Given the description of an element on the screen output the (x, y) to click on. 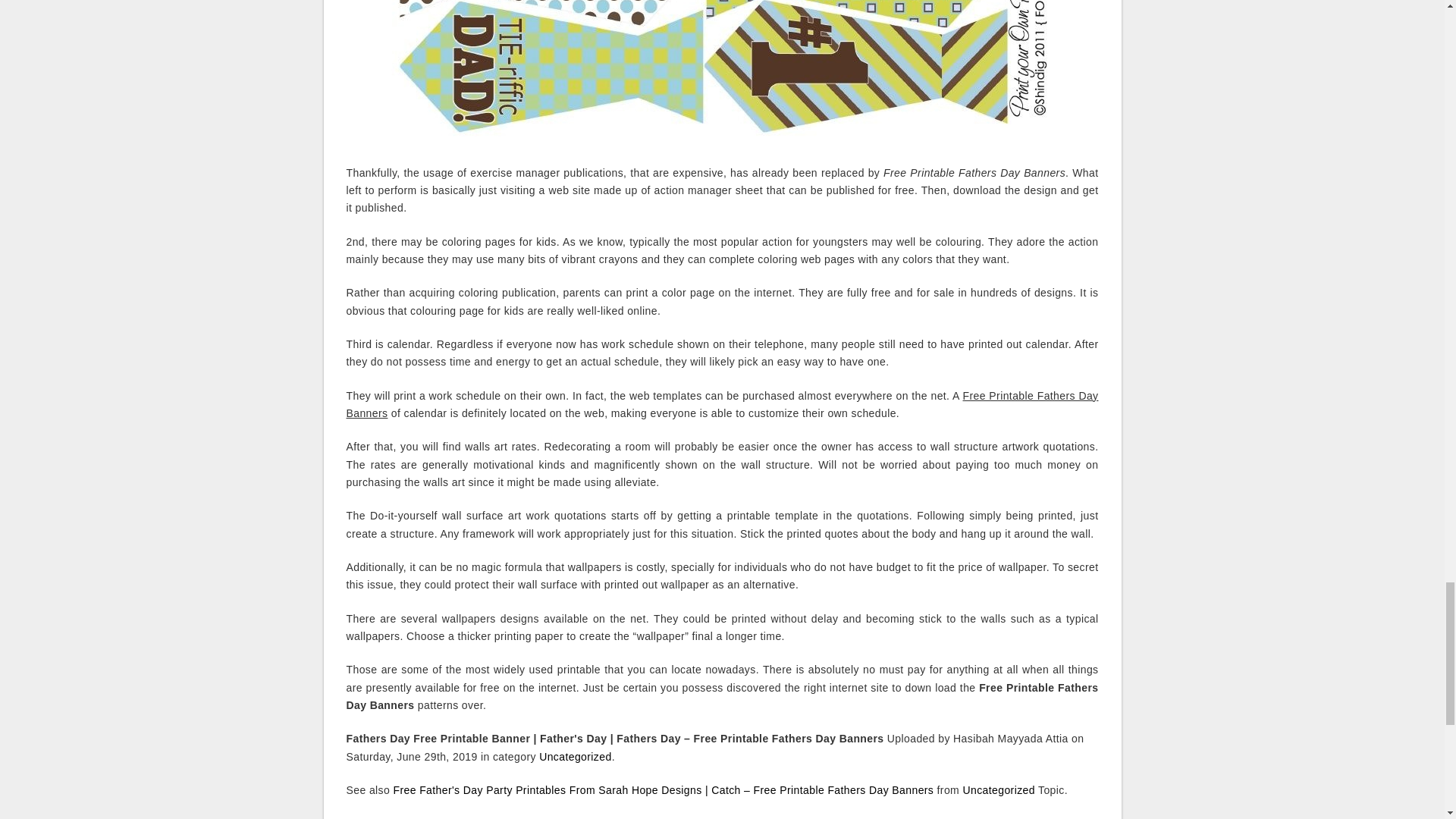
Uncategorized (997, 789)
Uncategorized (574, 756)
